Given the description of an element on the screen output the (x, y) to click on. 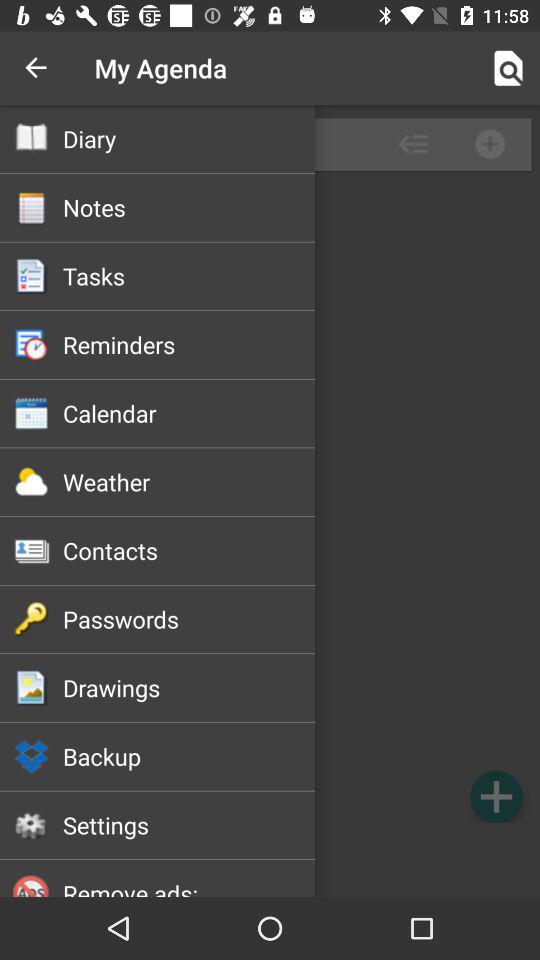
add agenda option (496, 796)
